Given the description of an element on the screen output the (x, y) to click on. 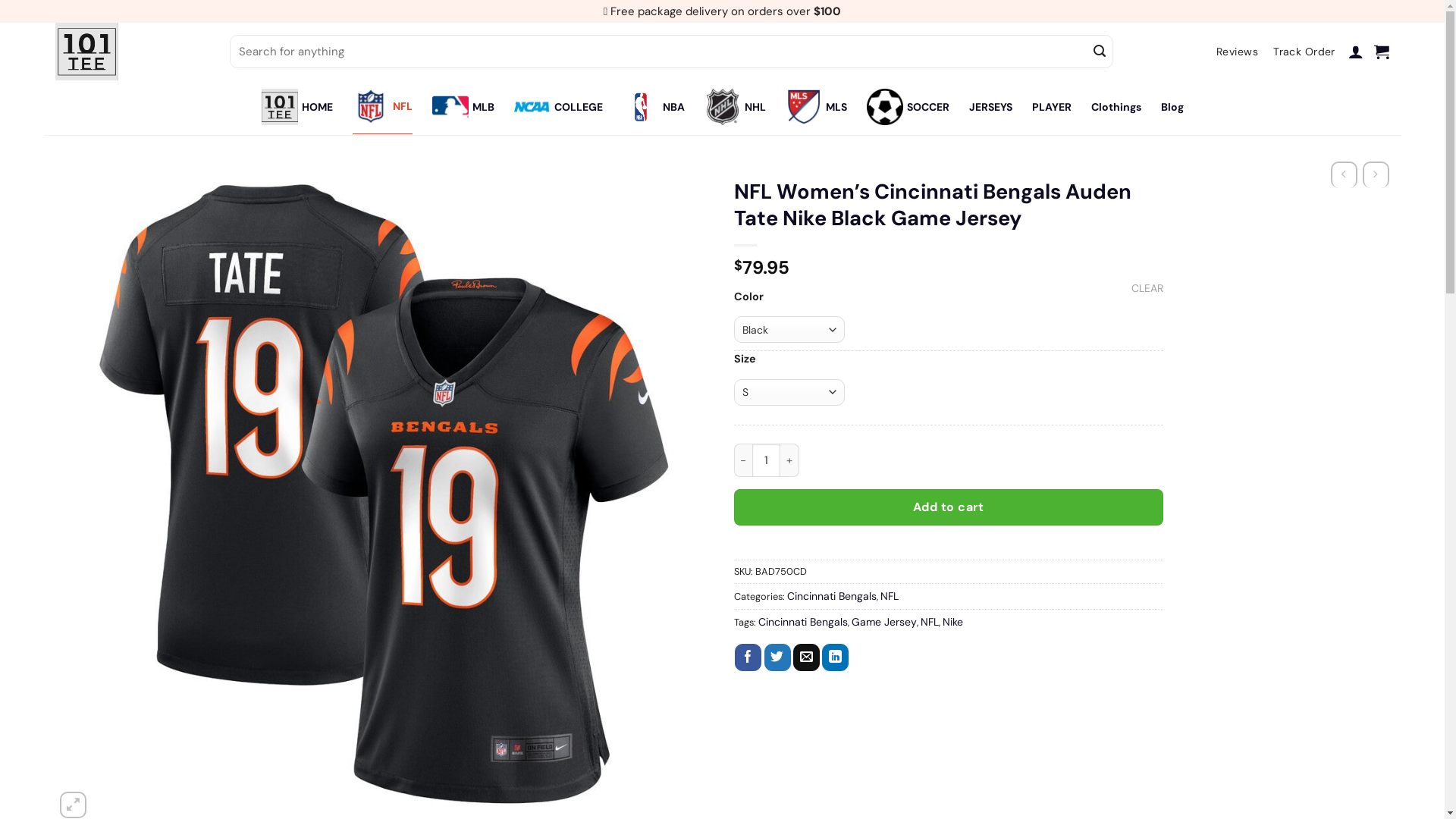
Zoom Element type: hover (72, 804)
Email to a Friend Element type: hover (806, 657)
CLEAR Element type: text (1147, 287)
Blog Element type: text (1171, 106)
PLAYER Element type: text (1050, 106)
Clothings Element type: text (1115, 106)
NFL Element type: text (381, 106)
101TEE Element type: hover (130, 51)
Nike Element type: text (951, 621)
COLLEGE Element type: text (558, 106)
Search Element type: text (1099, 51)
NFL Element type: text (888, 595)
NFL Element type: text (929, 621)
Share on Twitter Element type: hover (777, 657)
MLB Element type: text (463, 106)
Add to cart Element type: text (949, 507)
Cincinnati Bengals Element type: text (802, 621)
Cart Element type: hover (1381, 51)
Game Jersey Element type: text (883, 621)
Reviews Element type: text (1237, 51)
Cincinnati Bengals Element type: text (831, 595)
Share on LinkedIn Element type: hover (835, 657)
MLS Element type: text (816, 106)
SOCCER Element type: text (907, 106)
NHL Element type: text (734, 106)
Track Order Element type: text (1303, 51)
Share on Facebook Element type: hover (747, 657)
Qty Element type: hover (766, 459)
JERSEYS Element type: text (990, 106)
HOME Element type: text (296, 106)
NBA Element type: text (652, 106)
